Given the description of an element on the screen output the (x, y) to click on. 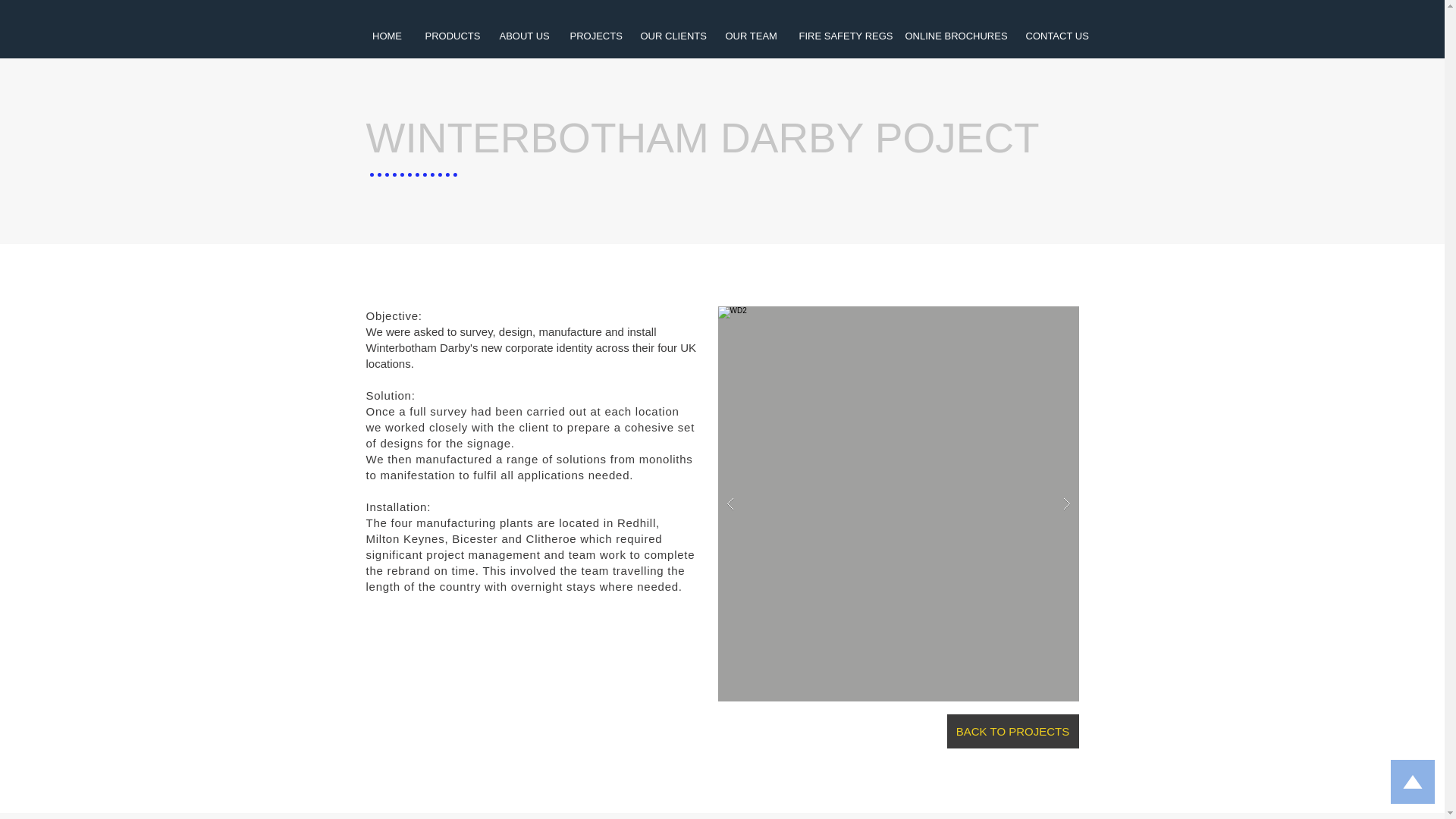
FIRE SAFETY REGS (840, 35)
PRODUCTS (450, 35)
ABOUT US (523, 35)
CONTACT US (1055, 35)
HOME (387, 35)
BACK TO PROJECTS (1012, 731)
OUR CLIENTS (671, 35)
PROJECTS (592, 35)
OUR TEAM (750, 35)
